Given the description of an element on the screen output the (x, y) to click on. 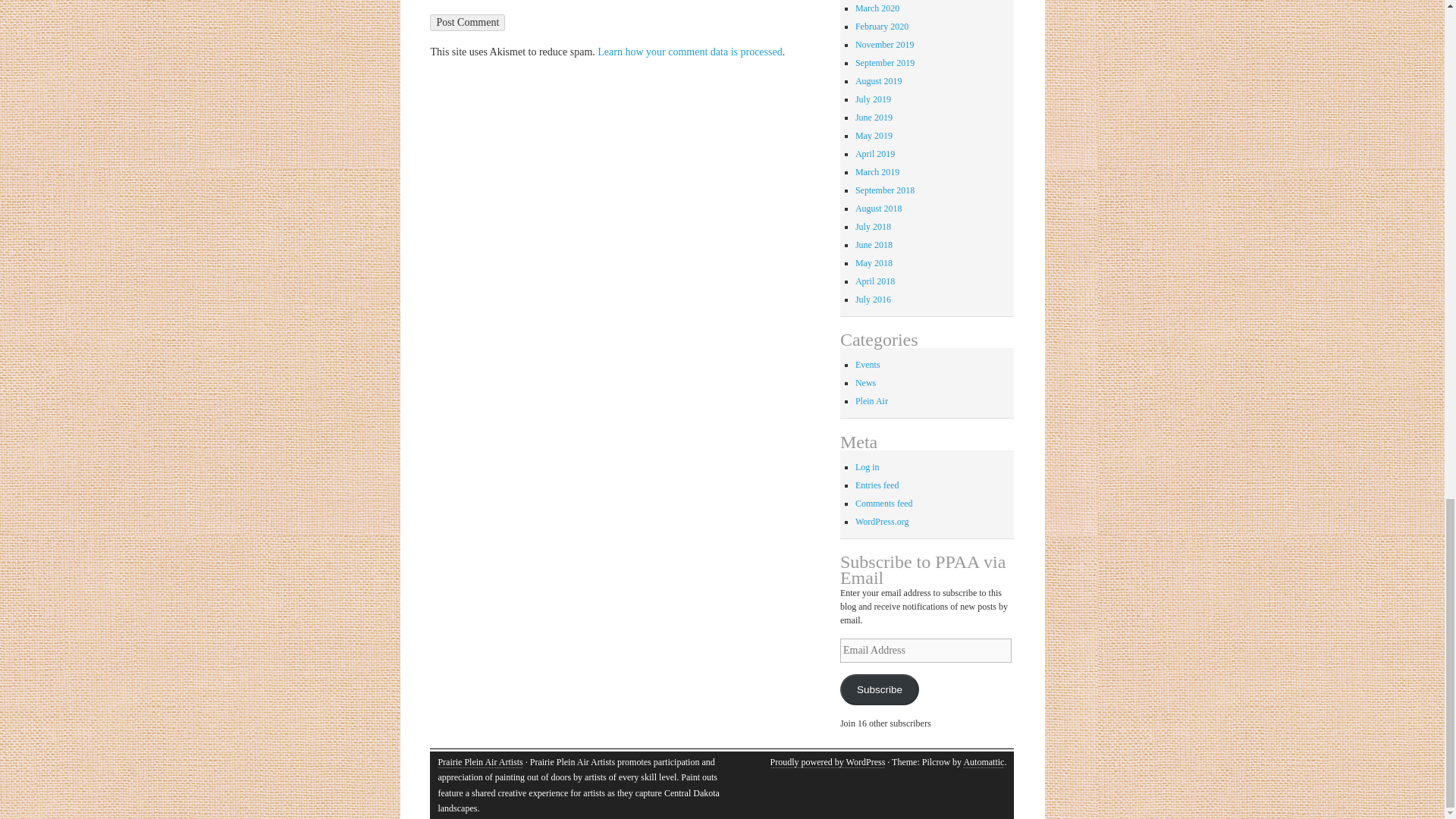
Prairie Plein Air Artists (480, 762)
Post Comment (467, 22)
A Semantic Personal Publishing Platform (827, 762)
Post Comment (467, 22)
Learn how your comment data is processed (688, 51)
